Given the description of an element on the screen output the (x, y) to click on. 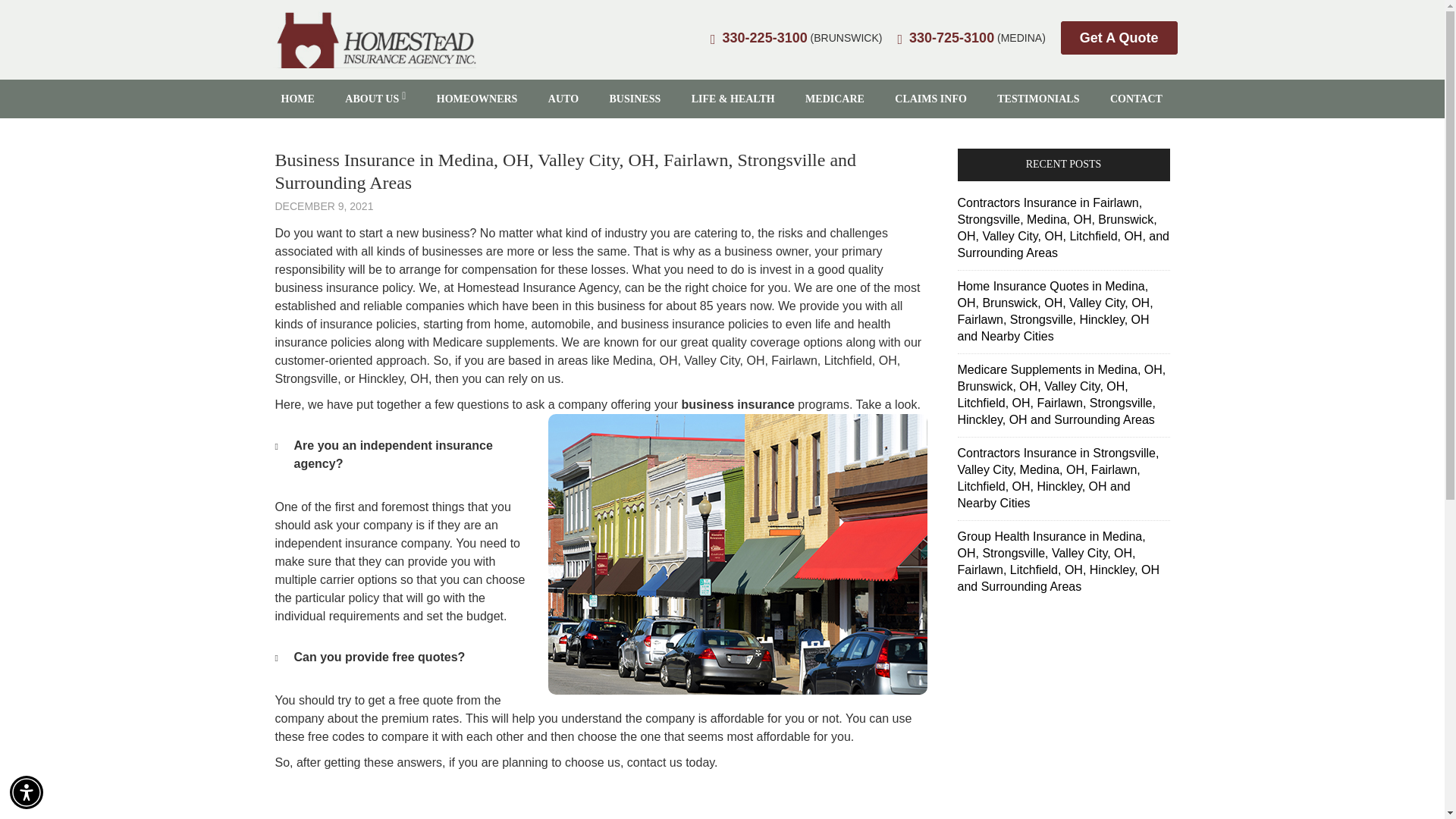
Get A Quote (1119, 37)
HOMEOWNERS (477, 98)
BUSINESS (635, 98)
ABOUT US (375, 98)
AUTO (563, 98)
business insurance (737, 404)
MEDICARE (834, 98)
TESTIMONIALS (1038, 98)
CONTACT (1136, 98)
CLAIMS INFO (929, 98)
HOME (296, 98)
Accessibility Menu (26, 792)
